Given the description of an element on the screen output the (x, y) to click on. 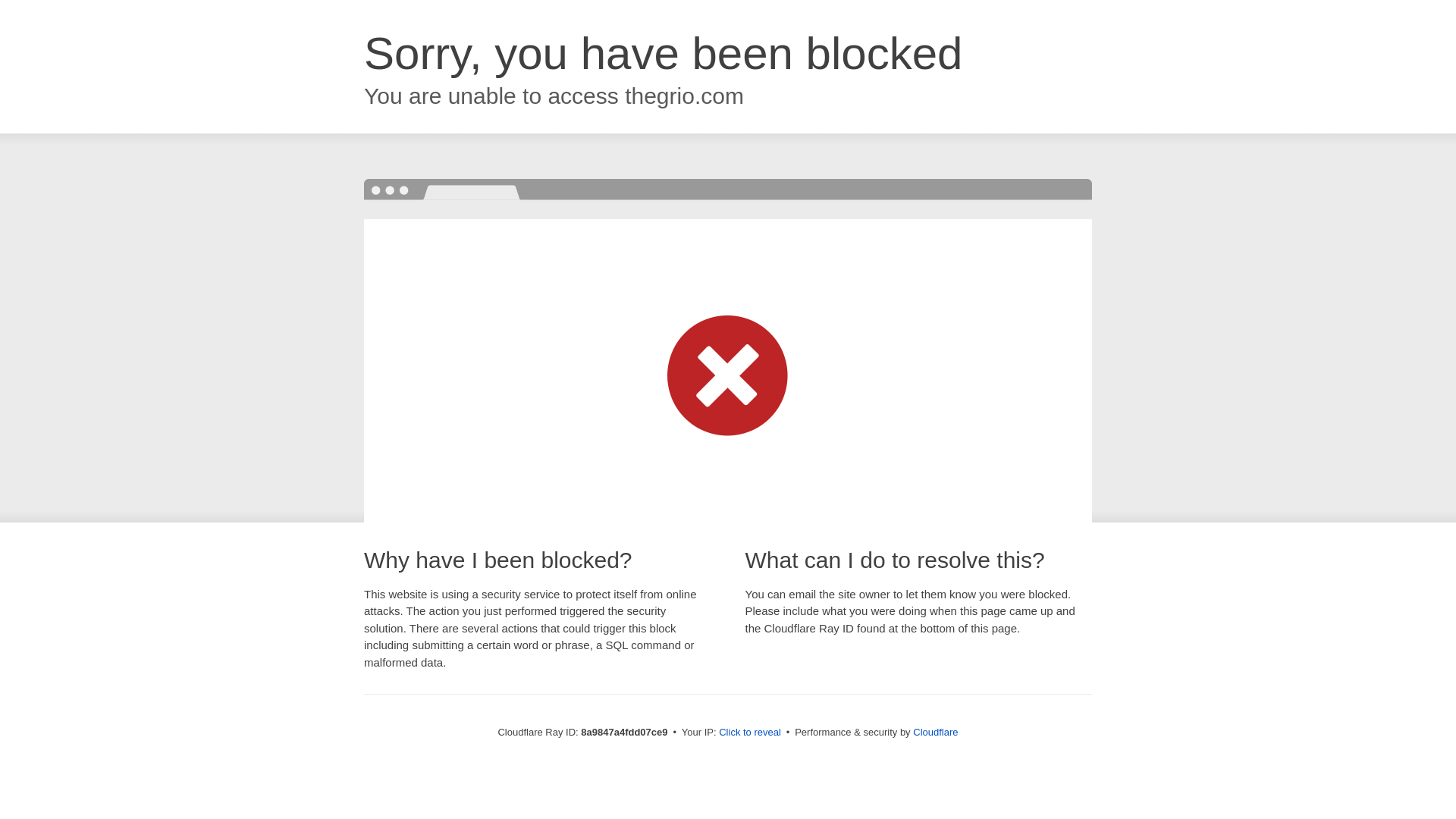
Click to reveal (749, 732)
Cloudflare (935, 731)
